Given the description of an element on the screen output the (x, y) to click on. 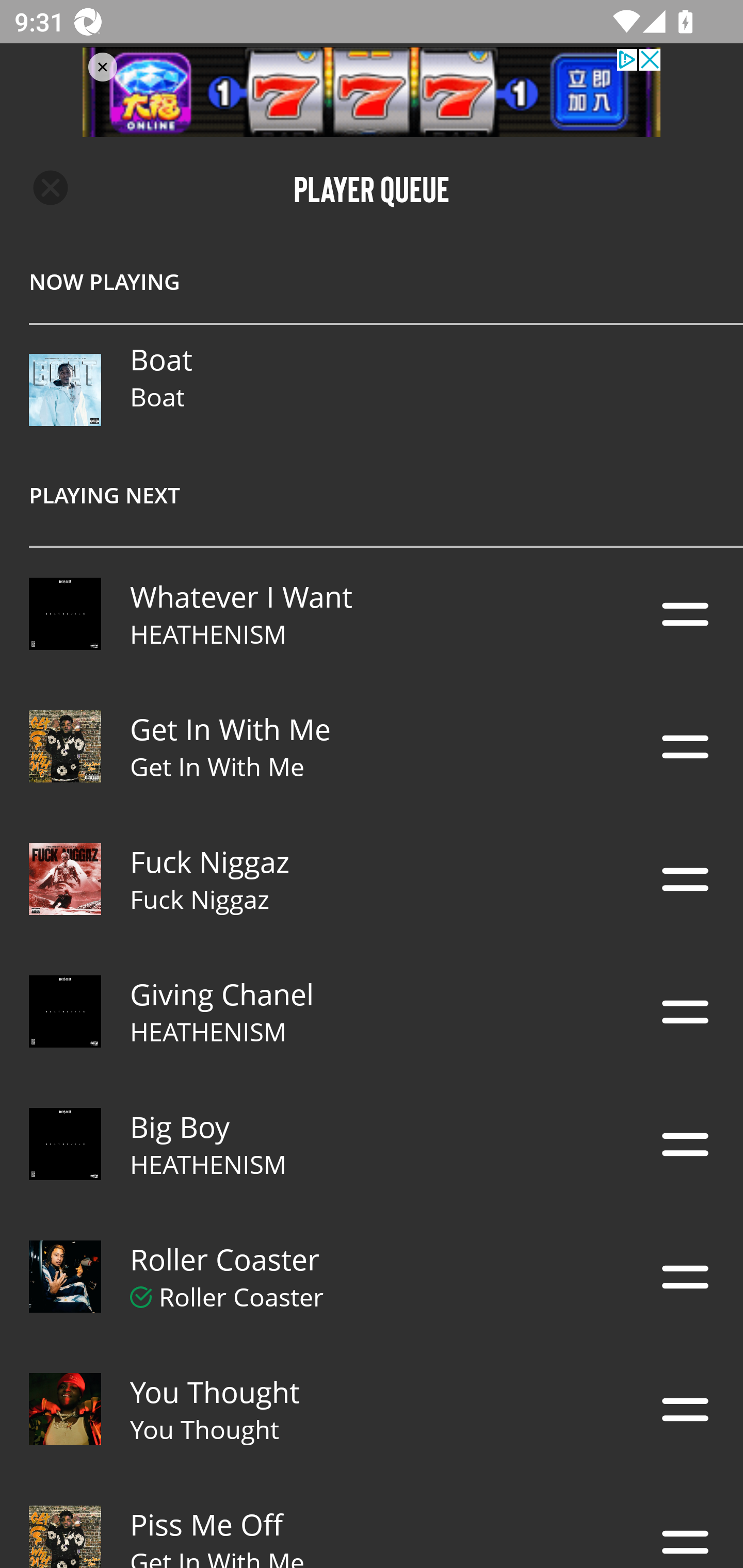
privacy (371, 92)
Navigate up (50, 187)
NOW PLAYING Description Boat Boat PLAYING NEXT (371, 392)
Description Whatever I Want HEATHENISM Description (371, 613)
Description Fuck Niggaz Fuck Niggaz Description (371, 878)
Description Giving Chanel HEATHENISM Description (371, 1011)
Description Big Boy HEATHENISM Description (371, 1144)
Description You Thought You Thought Description (371, 1409)
Description Piss Me Off Get In With Me Description (371, 1521)
